Given the description of an element on the screen output the (x, y) to click on. 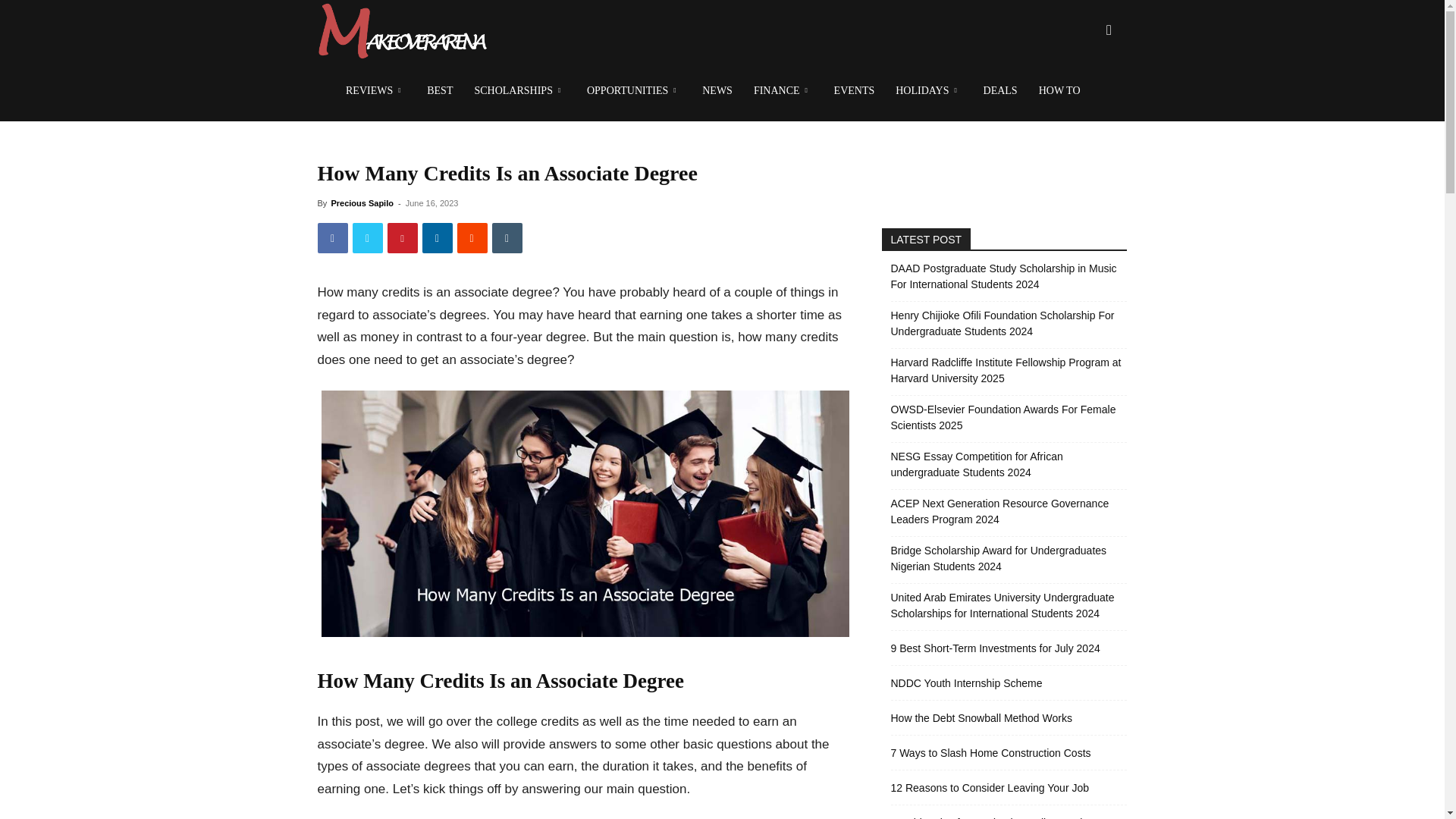
Tumblr (506, 237)
ReddIt (471, 237)
Facebook (332, 237)
Pinterest (401, 237)
Linkedin (436, 237)
Twitter (366, 237)
